Given the description of an element on the screen output the (x, y) to click on. 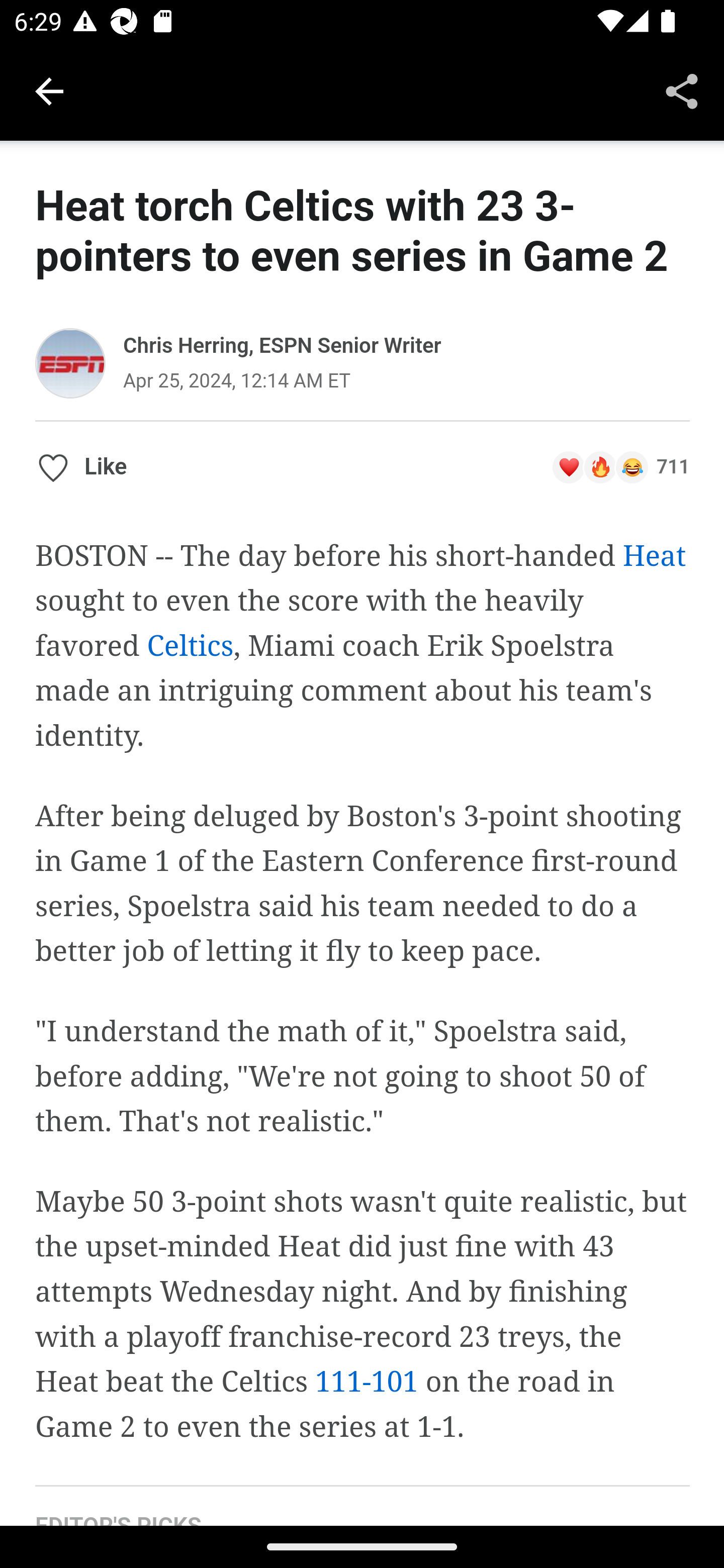
Navigate up (49, 91)
Share (681, 90)
